Given the description of an element on the screen output the (x, y) to click on. 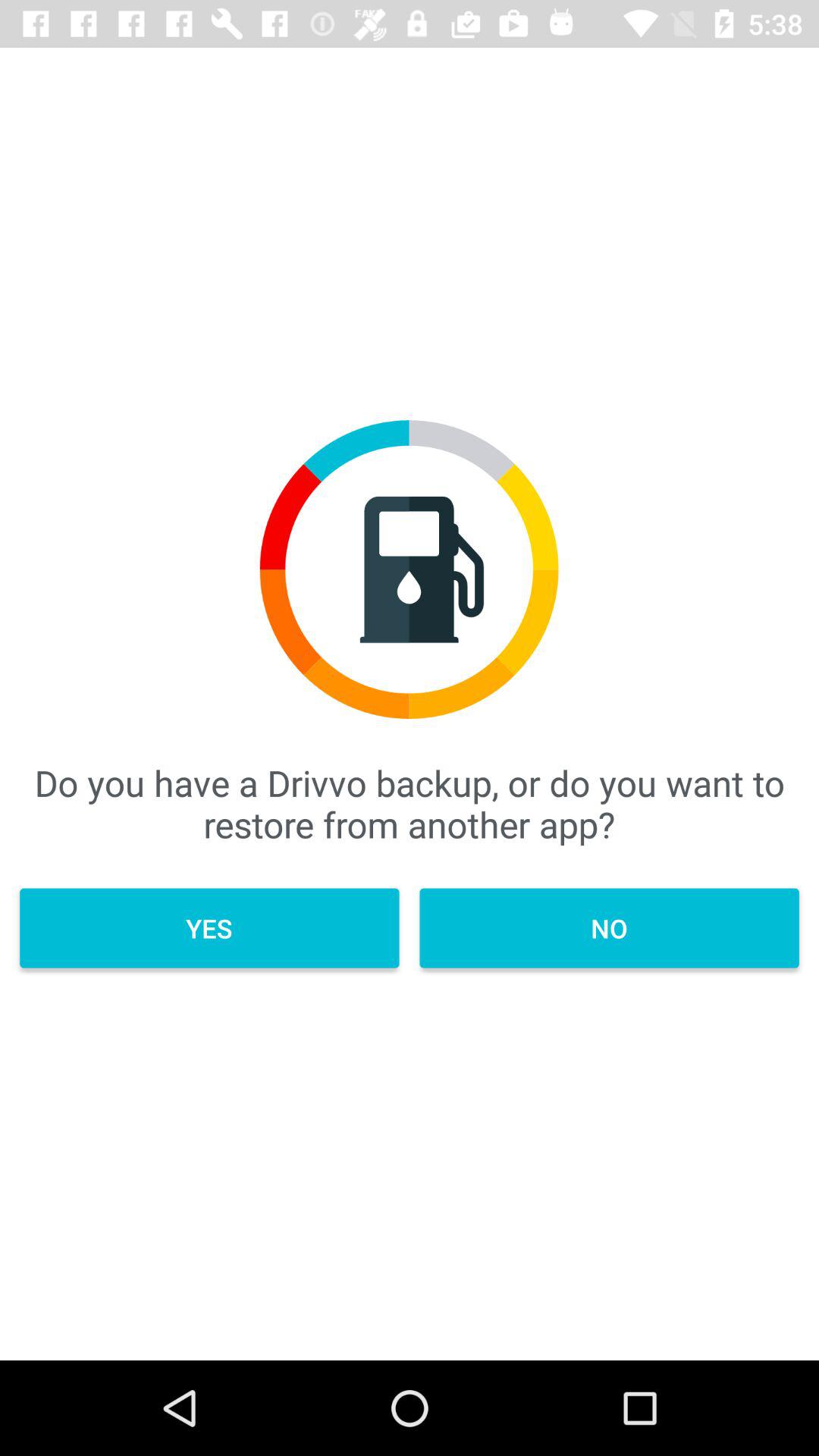
select item on the left (209, 928)
